Given the description of an element on the screen output the (x, y) to click on. 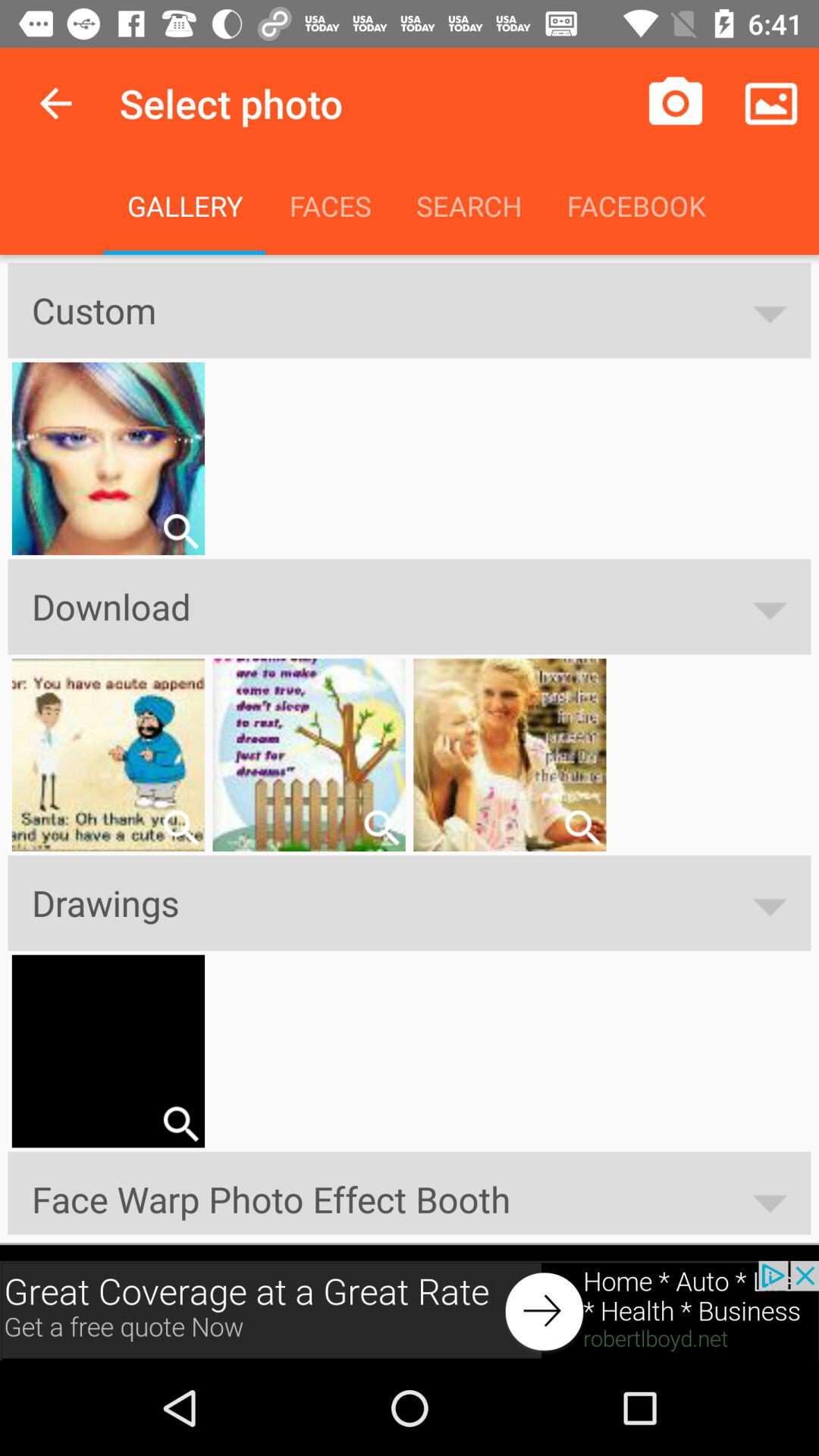
expand photo (180, 531)
